Given the description of an element on the screen output the (x, y) to click on. 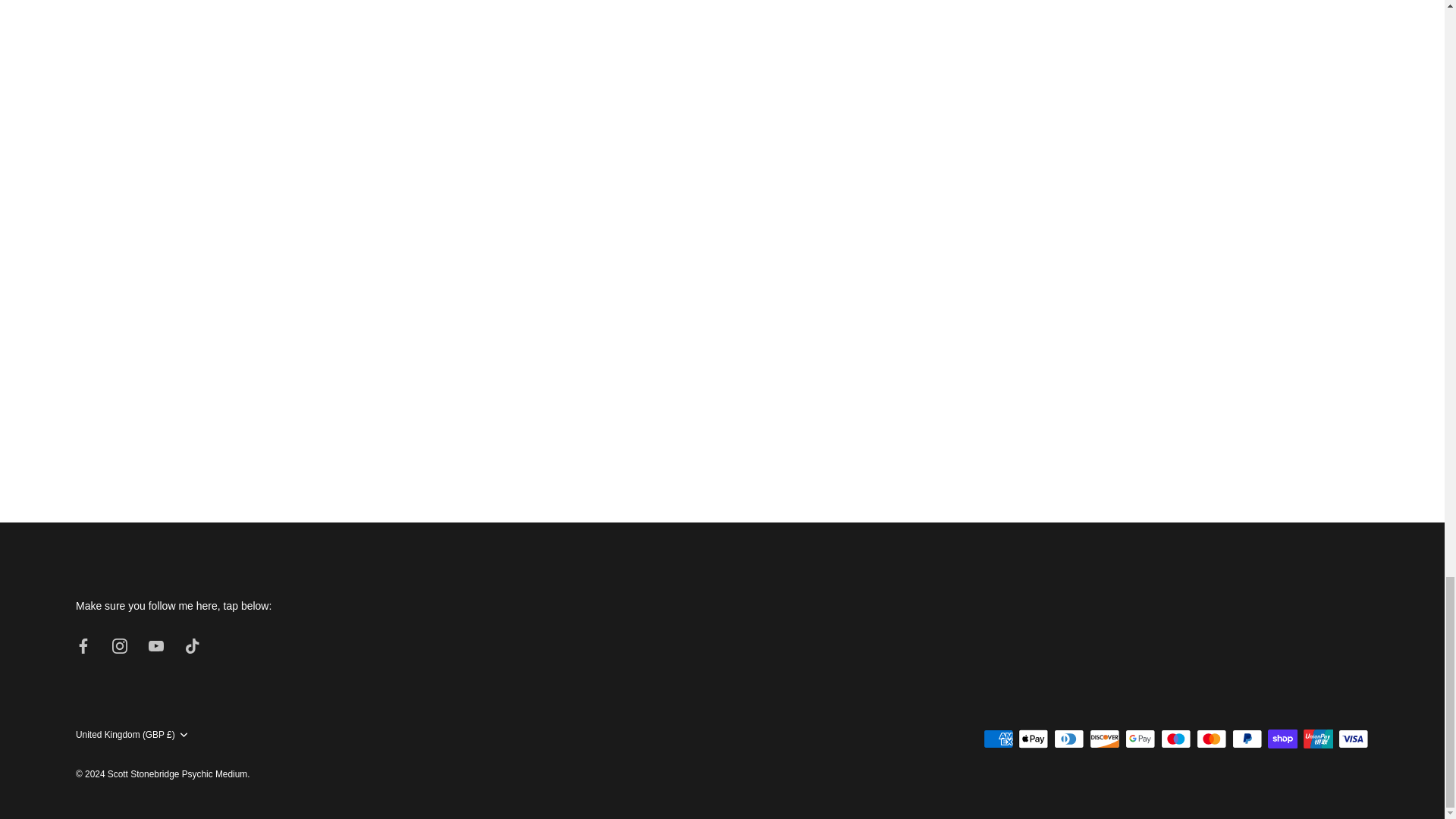
Maestro (1175, 738)
Mastercard (1210, 738)
American Express (998, 738)
Diners Club (1069, 738)
Apple Pay (1032, 738)
PayPal (1246, 738)
Visa (1353, 738)
Google Pay (1140, 738)
Shop Pay (1282, 738)
Union Pay (1318, 738)
